Given the description of an element on the screen output the (x, y) to click on. 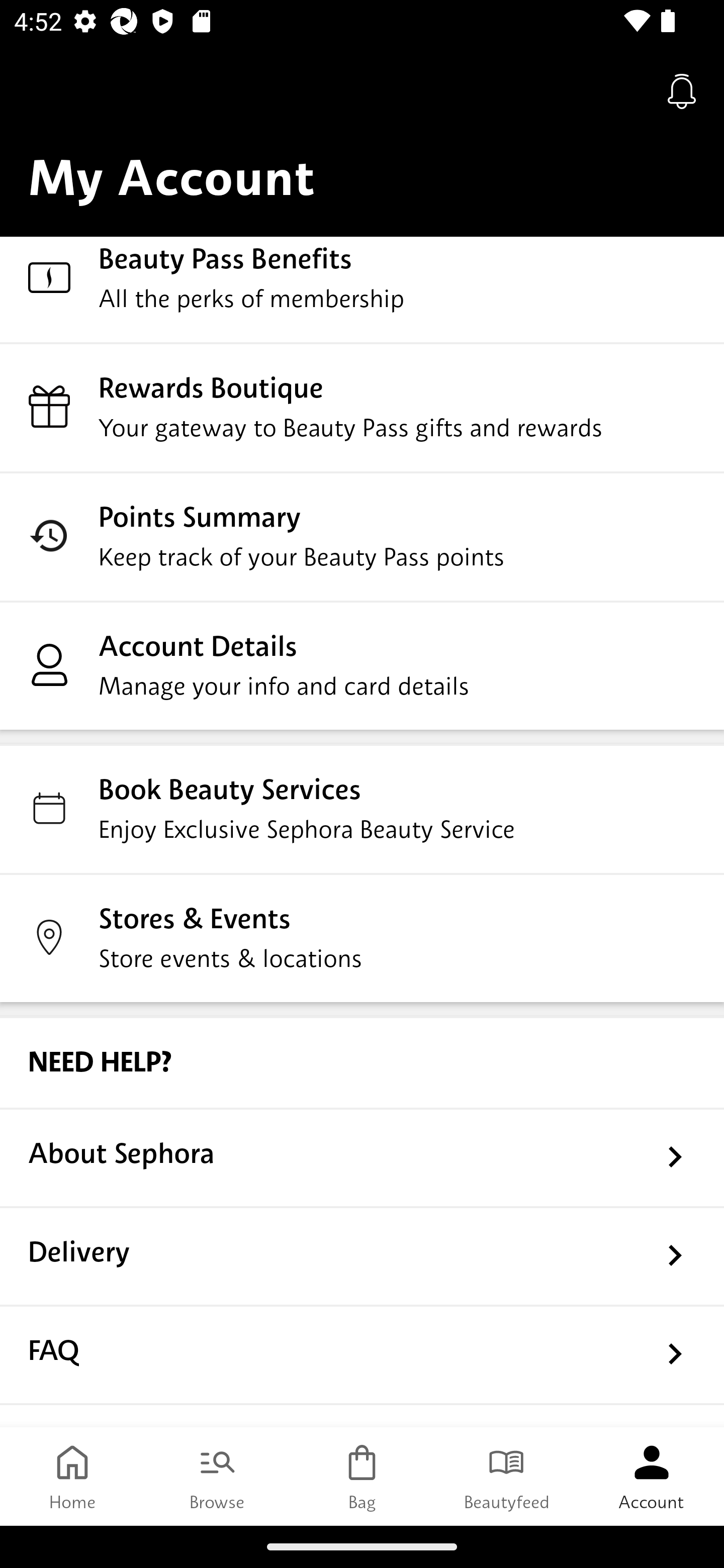
Notifications (681, 90)
Beauty Pass Benefits All the perks of membership (362, 288)
Account Details Manage your info and card details (362, 664)
Stores & Events Store events & locations (362, 937)
About Sephora (362, 1156)
Delivery (362, 1254)
FAQ (362, 1353)
Home (72, 1475)
Browse (216, 1475)
Bag (361, 1475)
Beautyfeed (506, 1475)
